Given the description of an element on the screen output the (x, y) to click on. 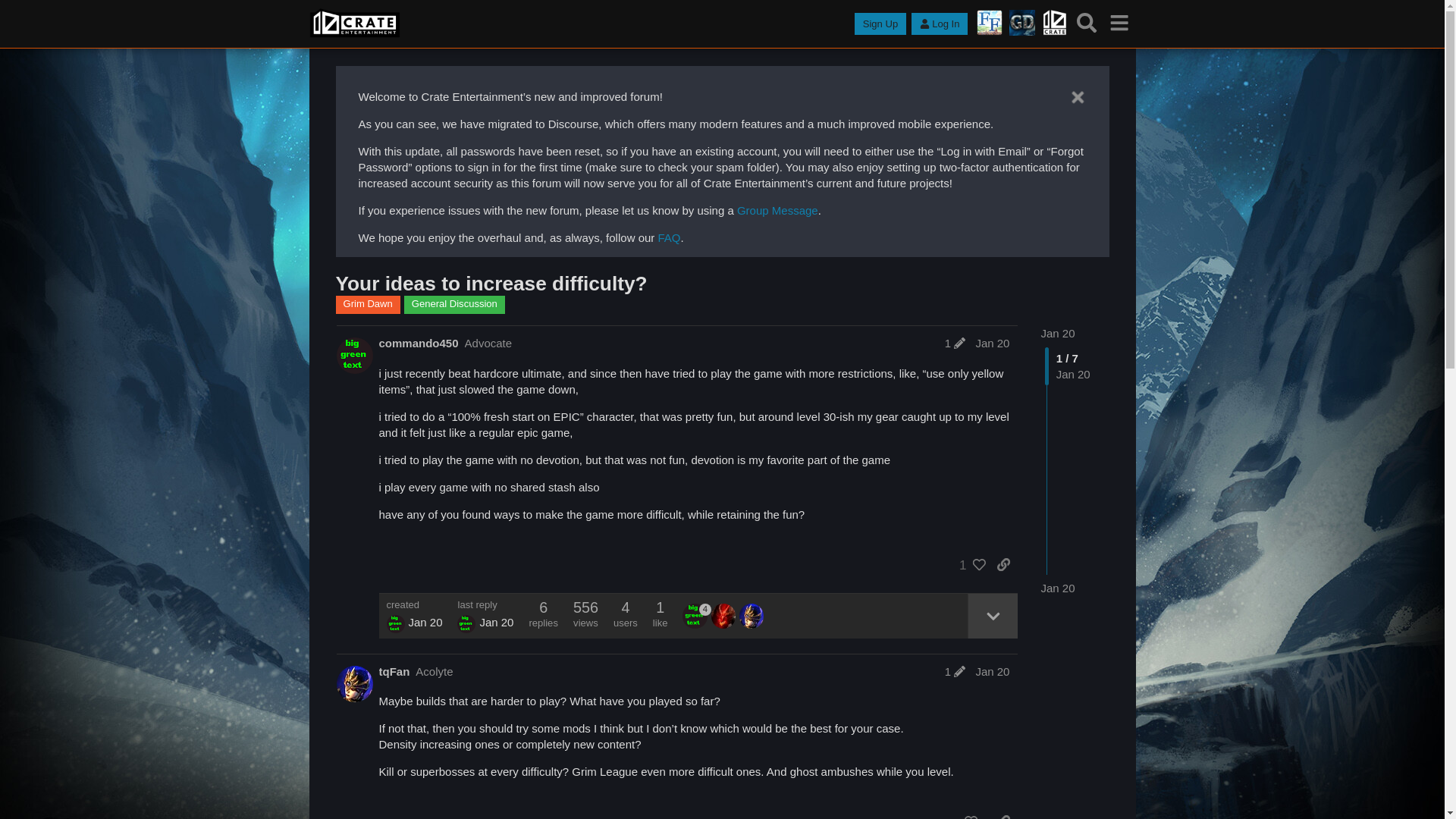
tqFan (394, 671)
4 (696, 615)
commando450 (395, 624)
Farthest Frontier (990, 22)
Post date (992, 342)
1 (954, 671)
Grim Dawn (366, 304)
last reply (485, 604)
expand topic details (992, 615)
